Given the description of an element on the screen output the (x, y) to click on. 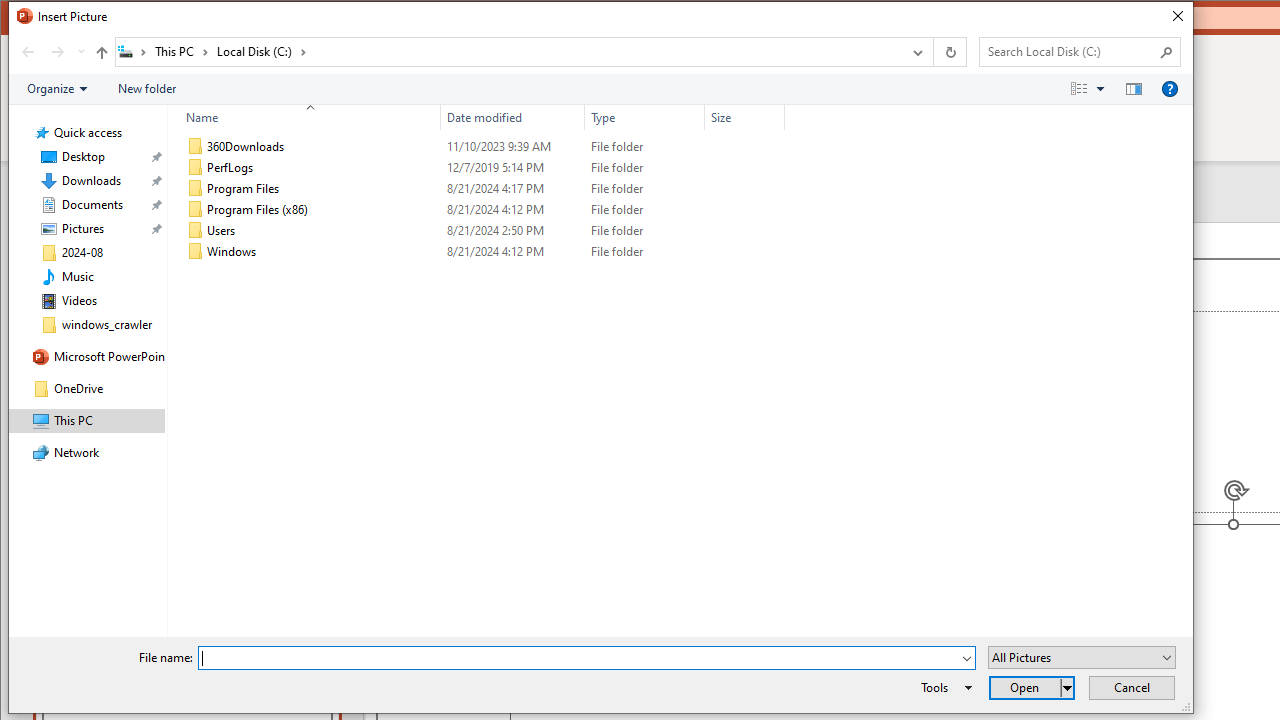
Size (744, 117)
Type (644, 117)
&Help (1169, 89)
Refresh "Local Disk (C:)" (F5) (949, 51)
Program Files (x86) (481, 209)
Program Files (481, 188)
Organize (56, 89)
Users (481, 230)
Views (1092, 89)
Local Disk (C:) (261, 51)
Name (304, 117)
Navigation buttons (50, 51)
Up band toolbar (101, 55)
